Given the description of an element on the screen output the (x, y) to click on. 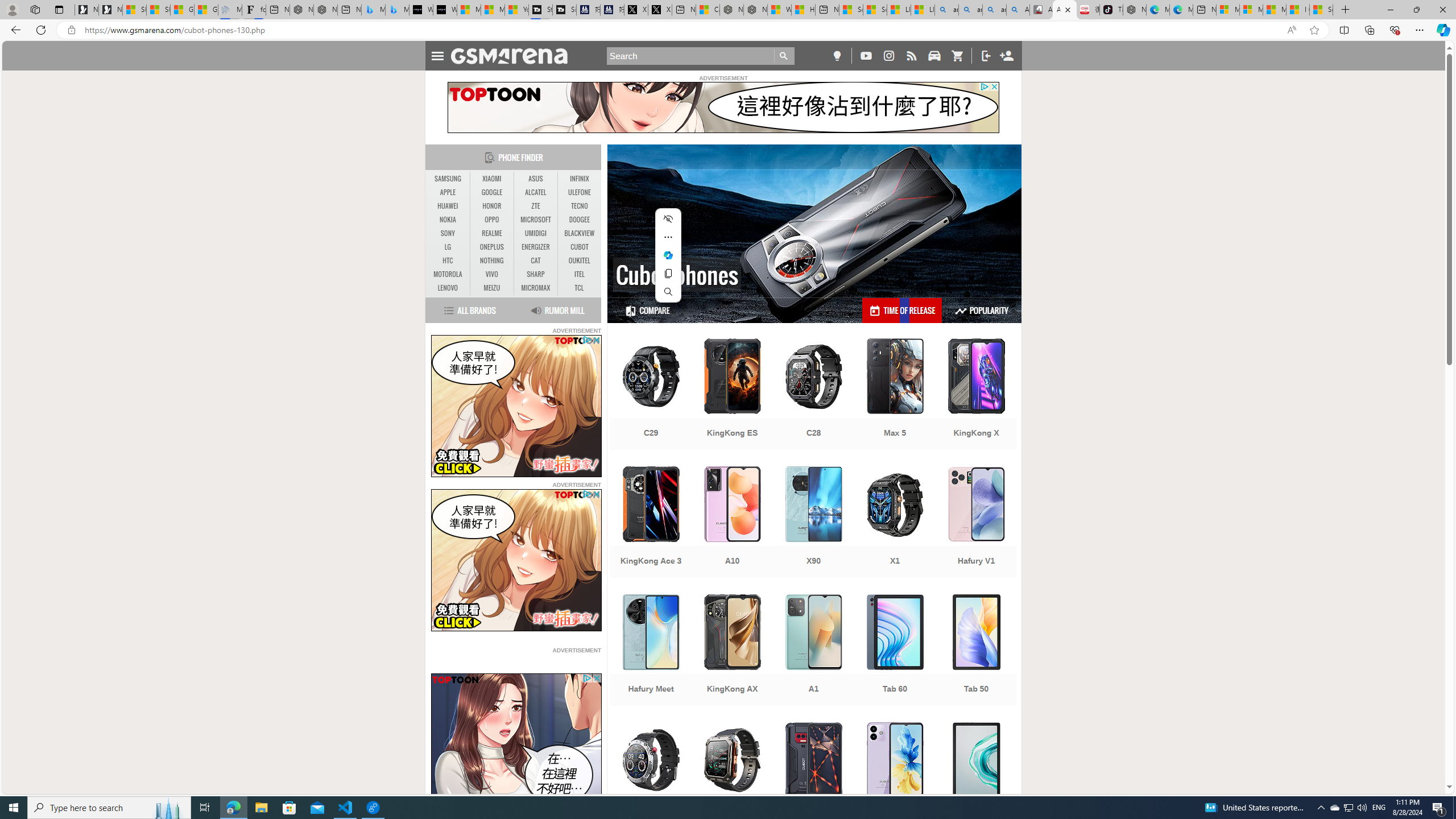
DOOGEE (579, 219)
amazon - Search (970, 9)
HONOR (491, 205)
OUKITEL (579, 260)
VIVO (491, 273)
NOKIA (448, 219)
Huge shark washes ashore at New York City beach | Watch (802, 9)
XIAOMI (491, 178)
Gilma and Hector both pose tropical trouble for Hawaii (205, 9)
What's the best AI voice generator? - voice.ai (444, 9)
